Given the description of an element on the screen output the (x, y) to click on. 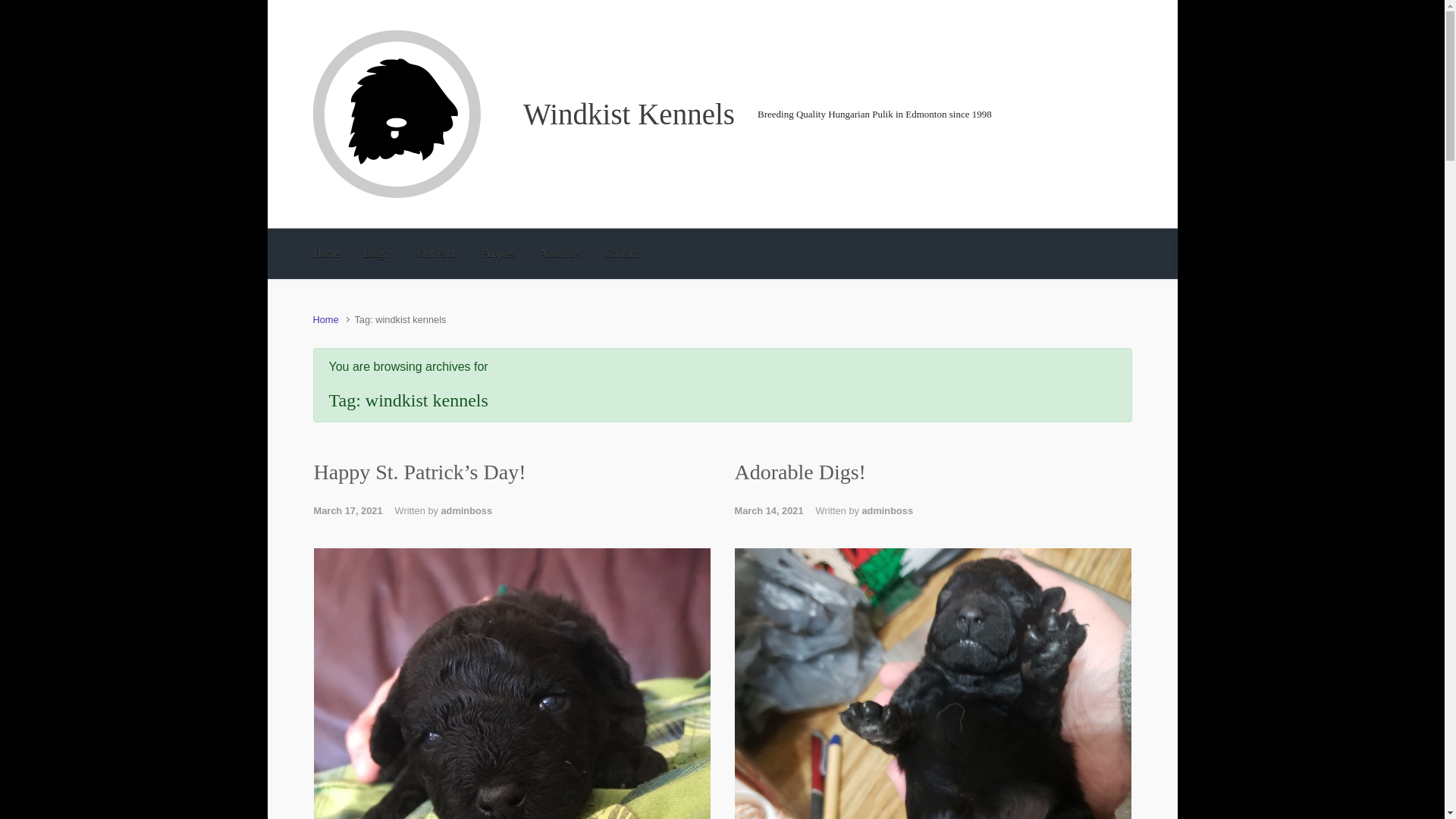
March 17, 2021 (354, 510)
Skip to main content (17, 8)
About Us (559, 253)
Contact (621, 253)
adminboss (886, 510)
Windkist Kennels (628, 113)
Adorable Digs! (798, 472)
Puppies (498, 253)
Home (325, 319)
Home (326, 253)
